Given the description of an element on the screen output the (x, y) to click on. 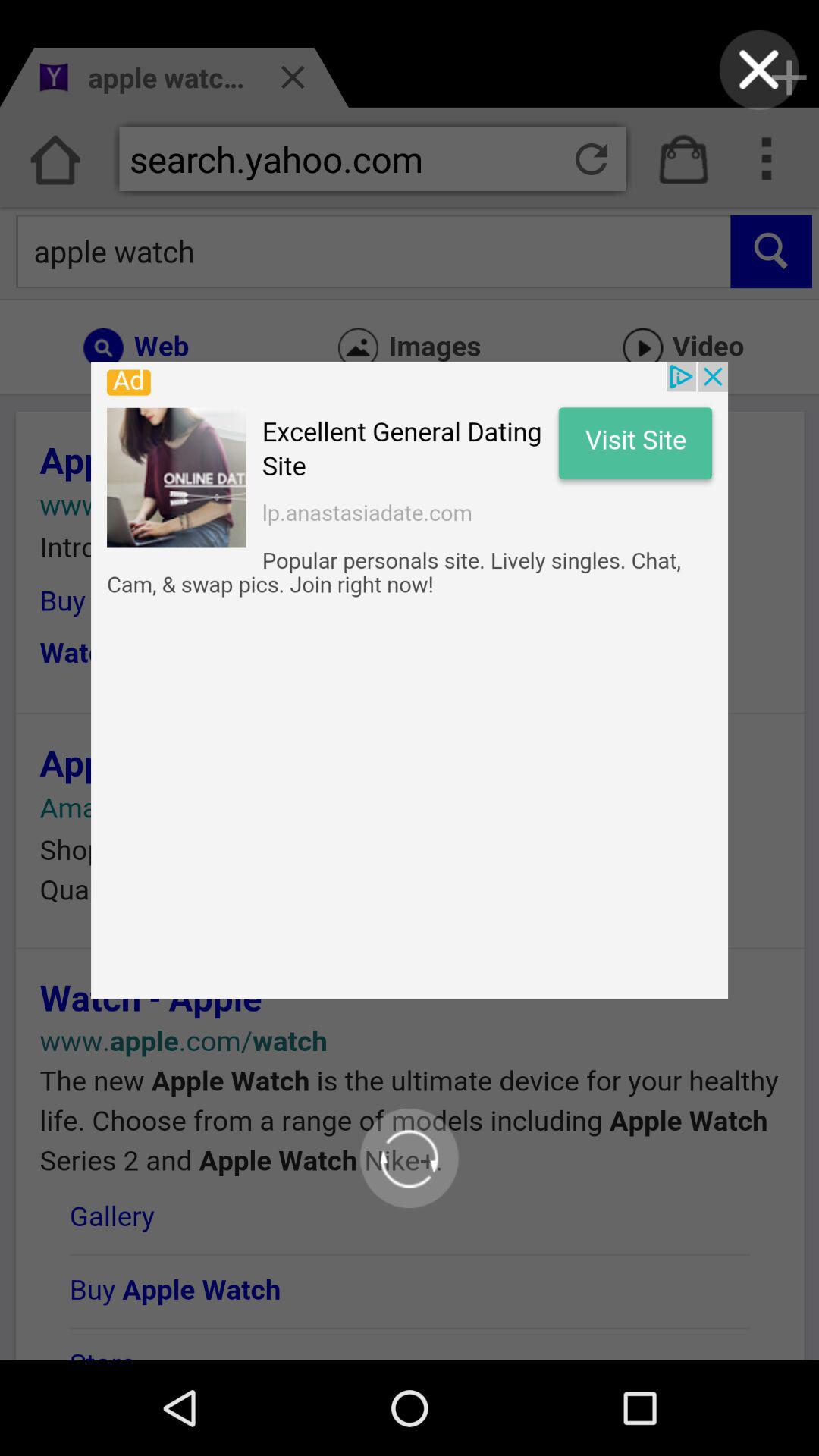
refresh page (408, 1158)
